Given the description of an element on the screen output the (x, y) to click on. 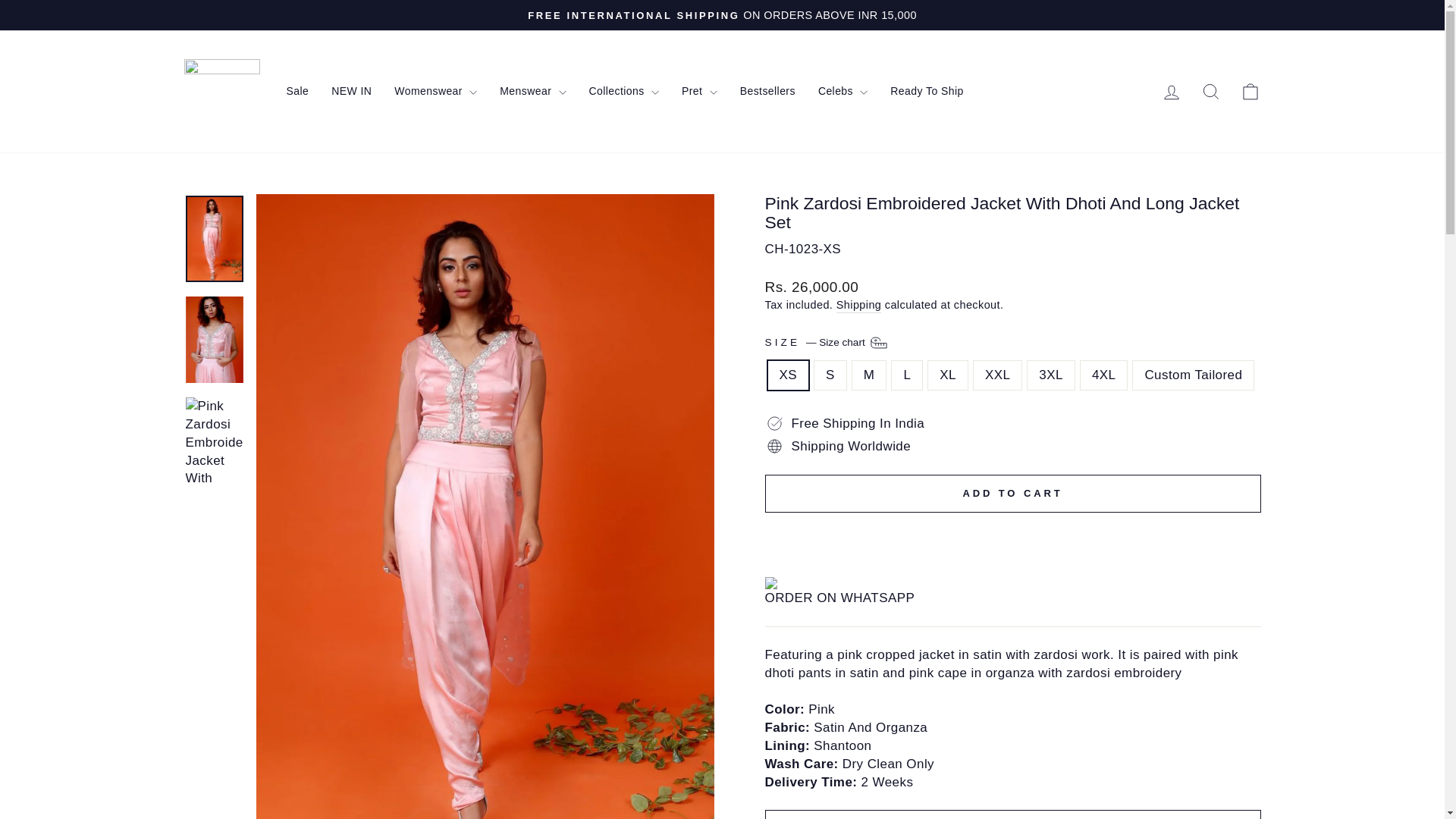
icon-search (1210, 91)
